Given the description of an element on the screen output the (x, y) to click on. 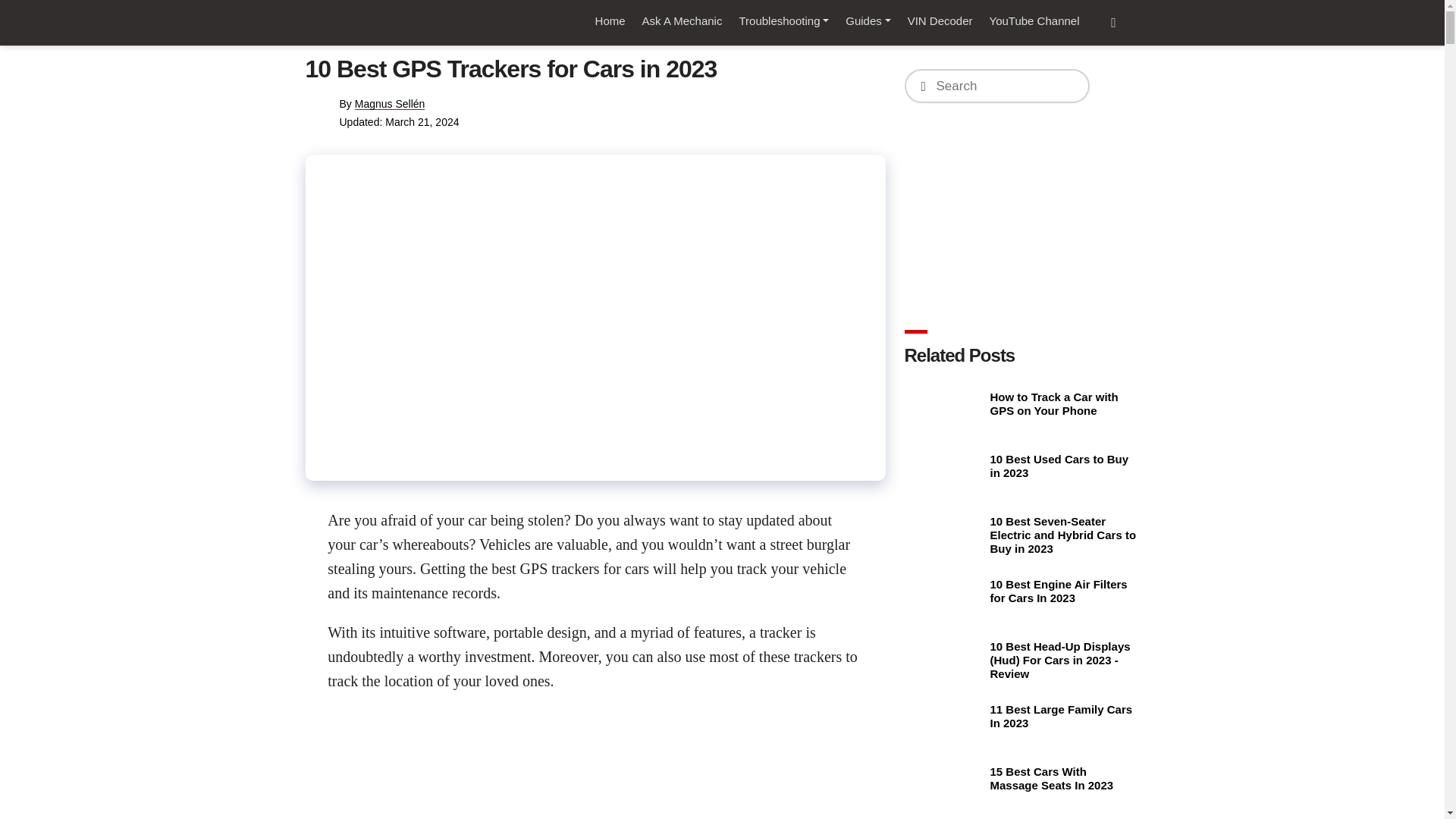
10 Best Engine Air Filters for Cars In 2023 (944, 596)
VIN Decoder (940, 20)
Guides (867, 20)
10 Best Seven-Seater Electric and Hybrid Cars to Buy in 2023 (944, 533)
YouTube Channel (1034, 20)
10 Best Used Cars to Buy in 2023 (944, 471)
Home (609, 20)
YouTube Channel (1034, 20)
Ask A Mechanic (682, 20)
How to Track a Car with GPS on Your Phone (944, 409)
11 Best Large Family Cars In 2023 (944, 721)
Troubleshooting (783, 20)
15 Best Cars With Massage Seats In 2023 (944, 783)
